Given the description of an element on the screen output the (x, y) to click on. 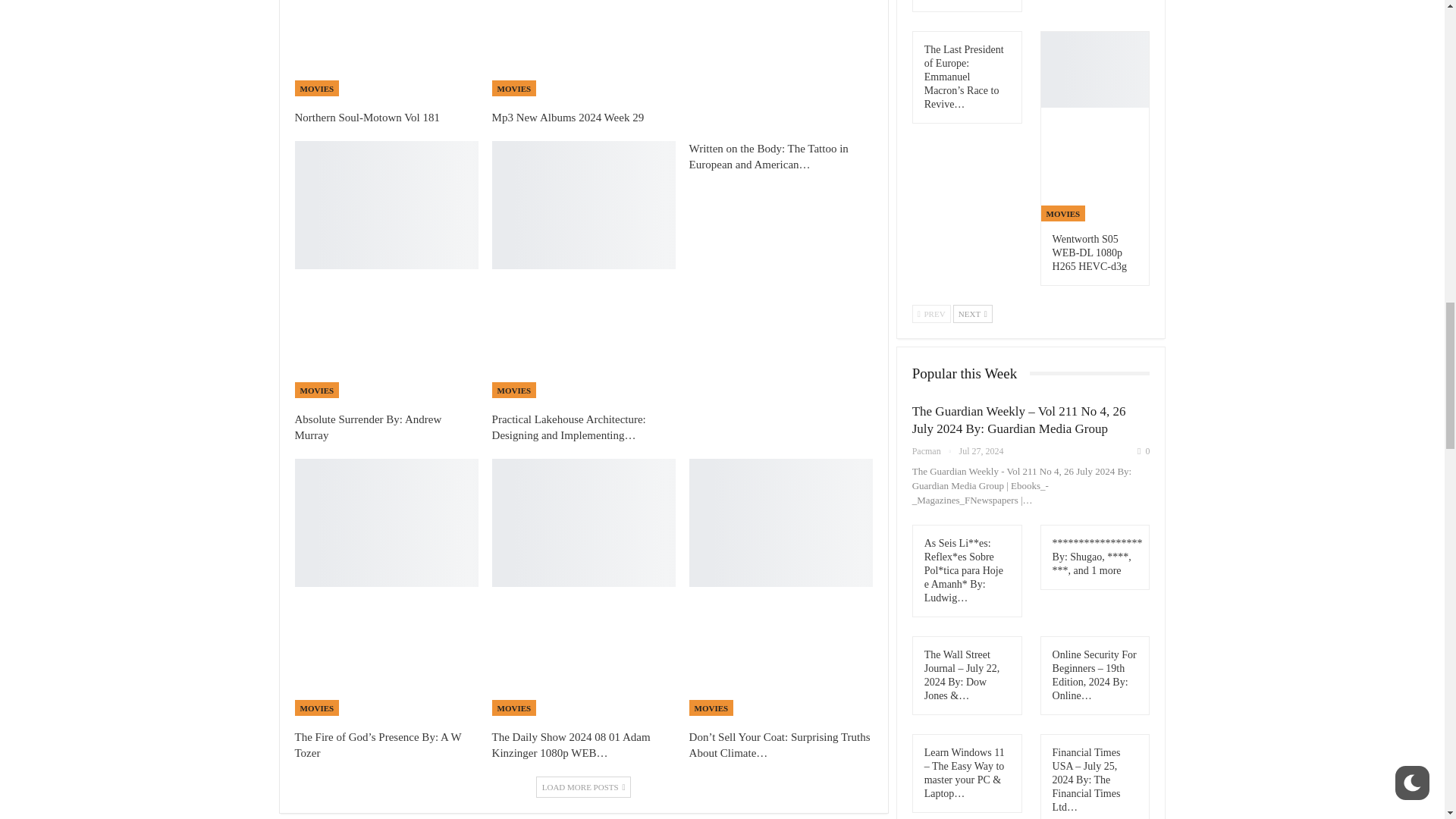
Northern Soul-Motown Vol 181 (385, 48)
Northern Soul-Motown Vol 181 (366, 117)
Absolute Surrender By: Andrew Murray (367, 427)
Mp3 New Albums 2024 Week 29 (583, 48)
Mp3 New Albums 2024 Week 29 (568, 117)
